Given the description of an element on the screen output the (x, y) to click on. 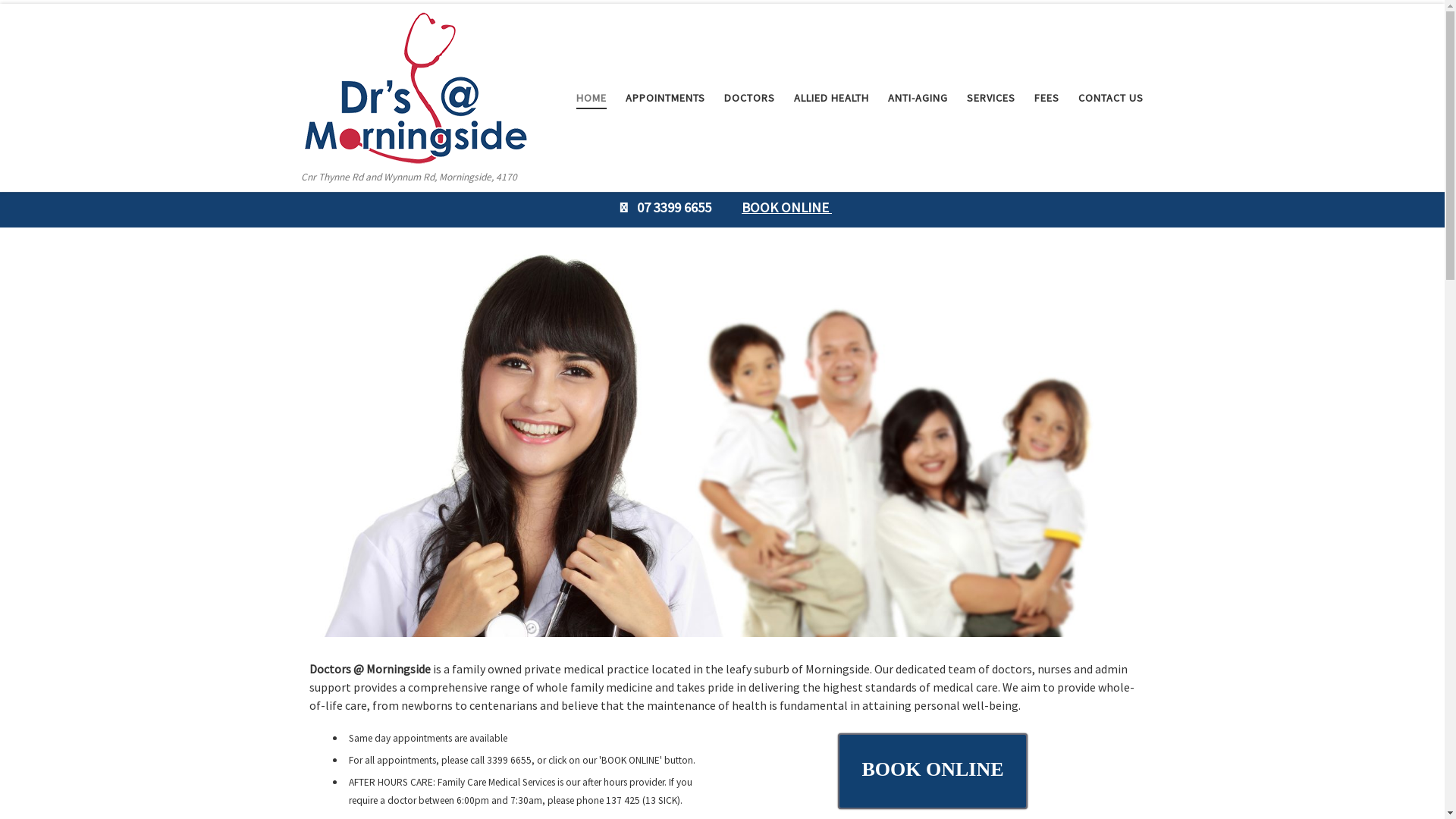
CONTACT US Element type: text (1110, 97)
APPOINTMENTS Element type: text (664, 97)
ALLIED HEALTH Element type: text (830, 97)
BOOK ONLINE Element type: text (932, 771)
DOCTORS Element type: text (748, 97)
SERVICES Element type: text (990, 97)
HOME Element type: text (591, 97)
FEES Element type: text (1046, 97)
Skip to content Element type: text (57, 21)
ANTI-AGING Element type: text (917, 97)
BOOK ONLINE  Element type: text (786, 207)
